Given the description of an element on the screen output the (x, y) to click on. 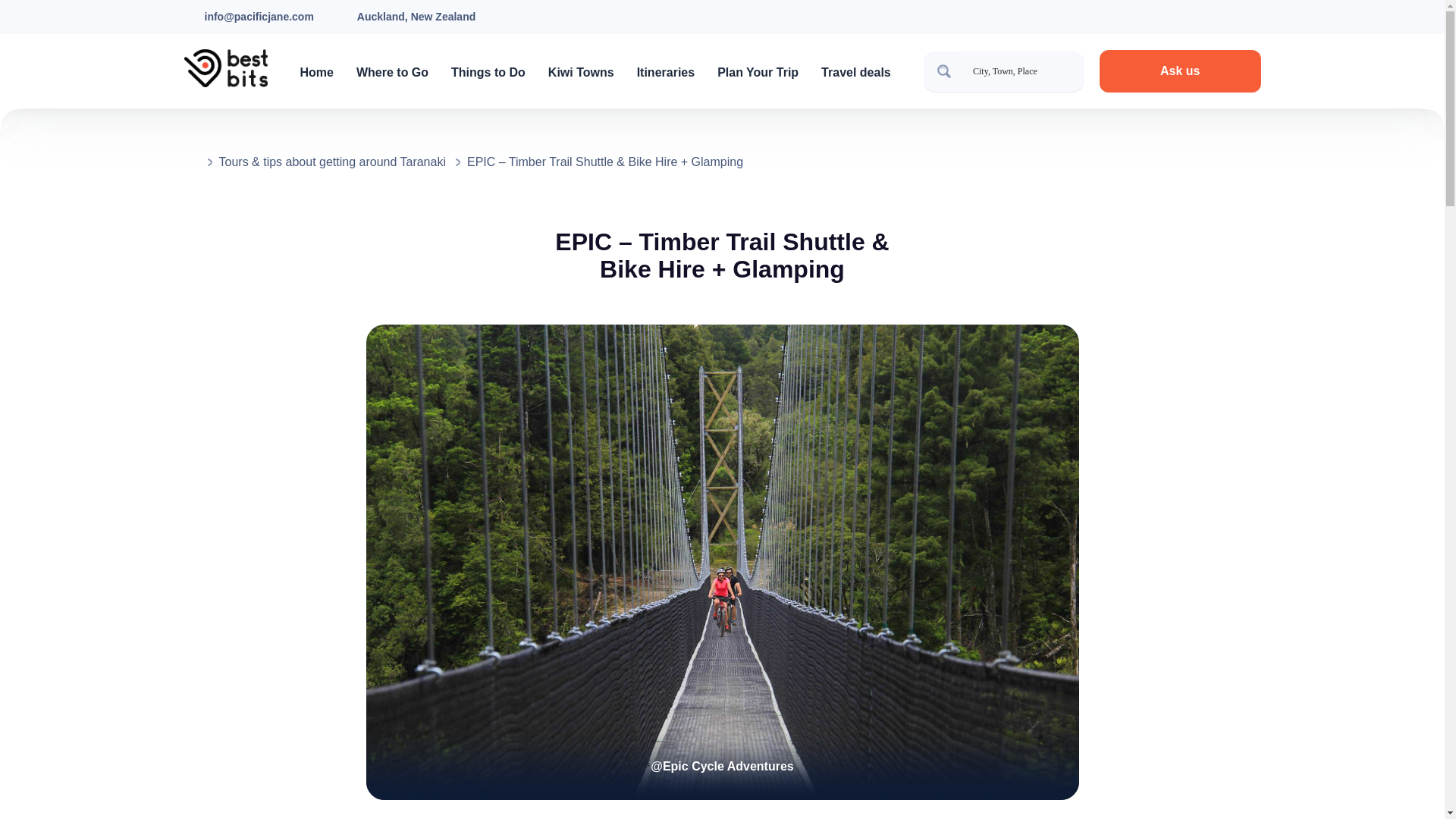
Things to Do (488, 72)
Itineraries (665, 72)
Kiwi Towns (581, 72)
Where to Go (392, 72)
Home (316, 72)
